Given the description of an element on the screen output the (x, y) to click on. 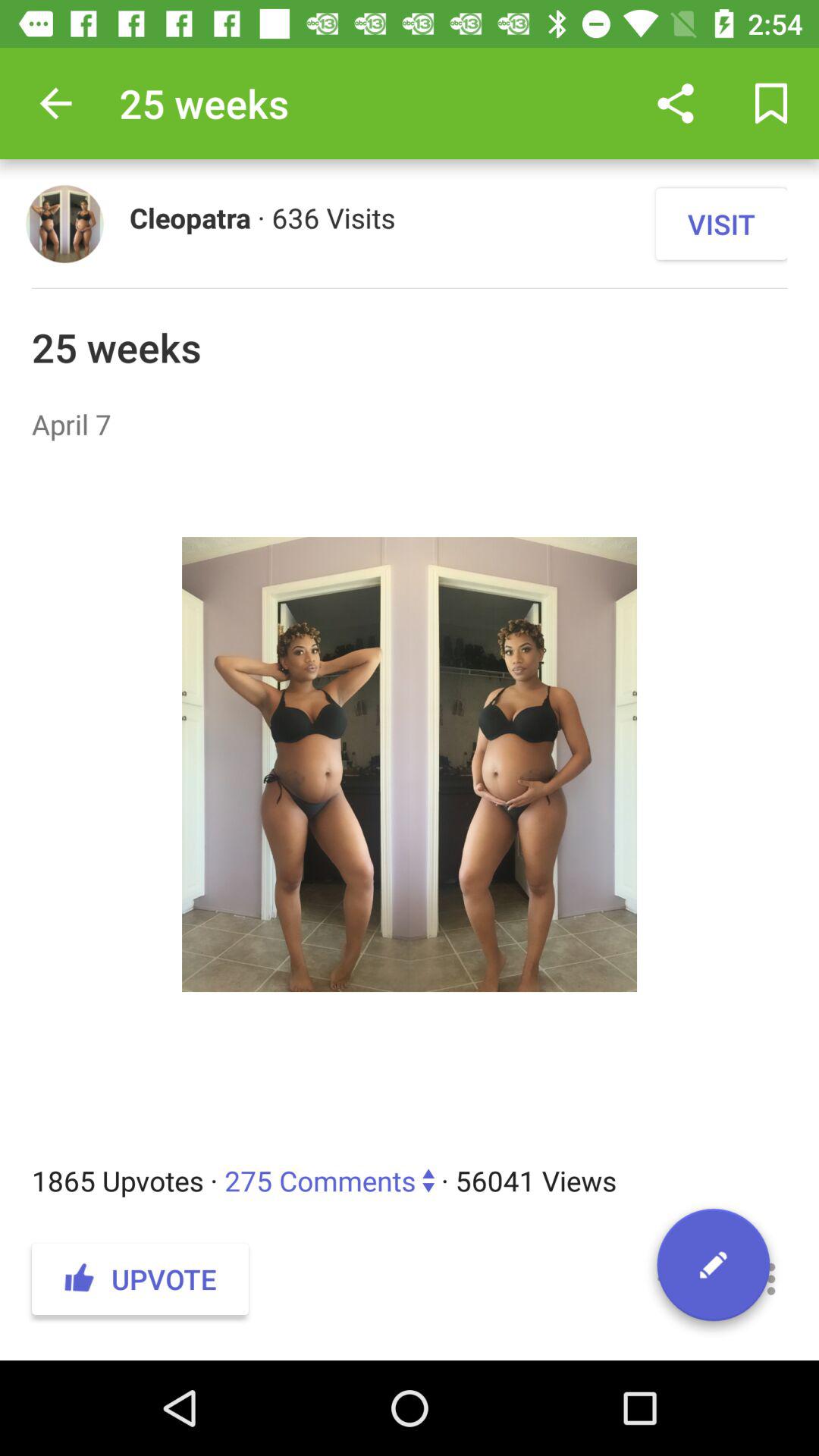
open the item at the center (409, 802)
